Given the description of an element on the screen output the (x, y) to click on. 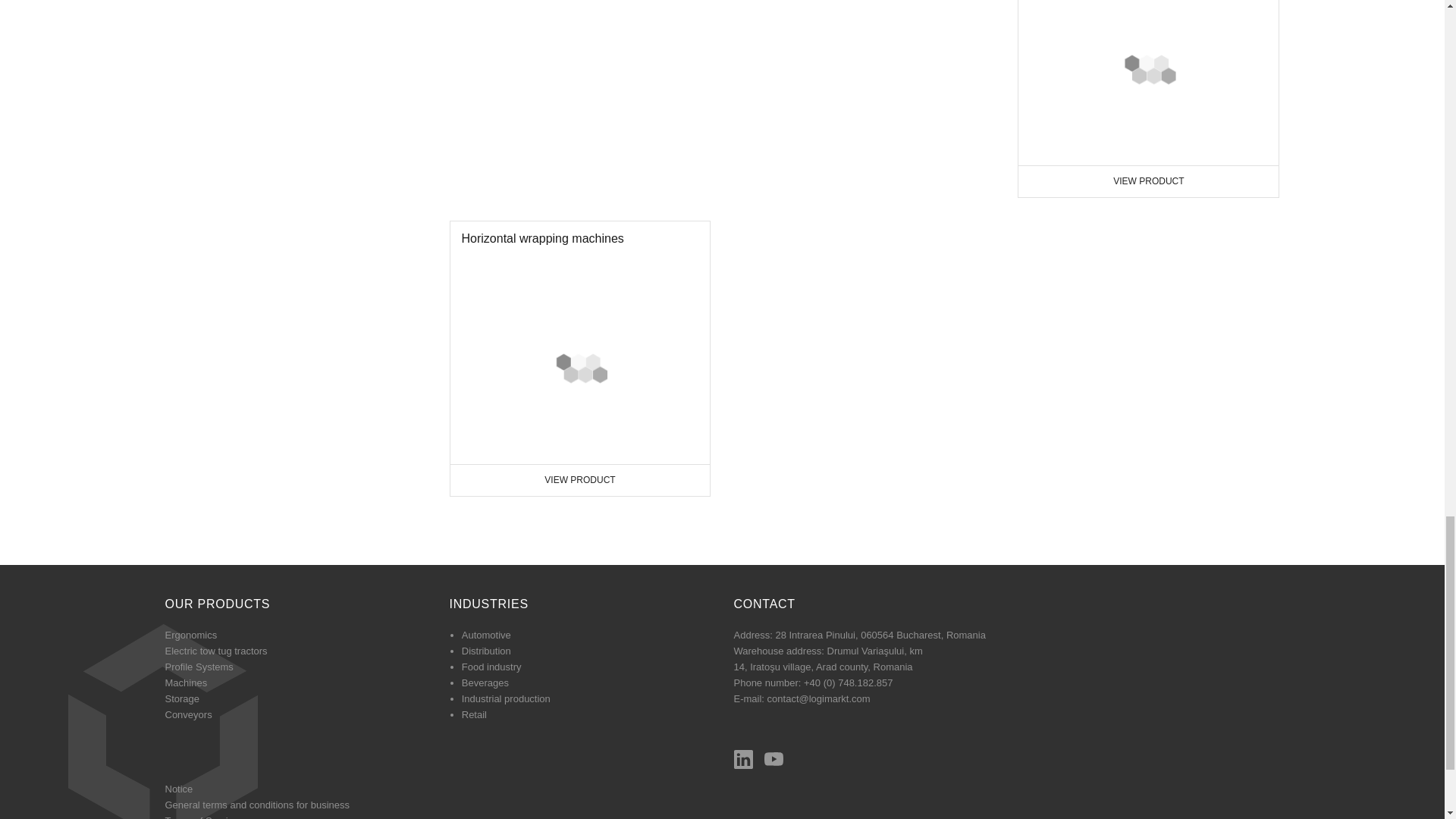
Statie de lucru 4D cu navete de plastic (552, 80)
Presa verticala automata pentru deseuri (1124, 209)
Ergonomics (579, 71)
Ghidaje pentru carucioare (190, 514)
Machines (579, 324)
Profile Systems (822, 84)
Electric tow tug tractors (1148, 198)
